Given the description of an element on the screen output the (x, y) to click on. 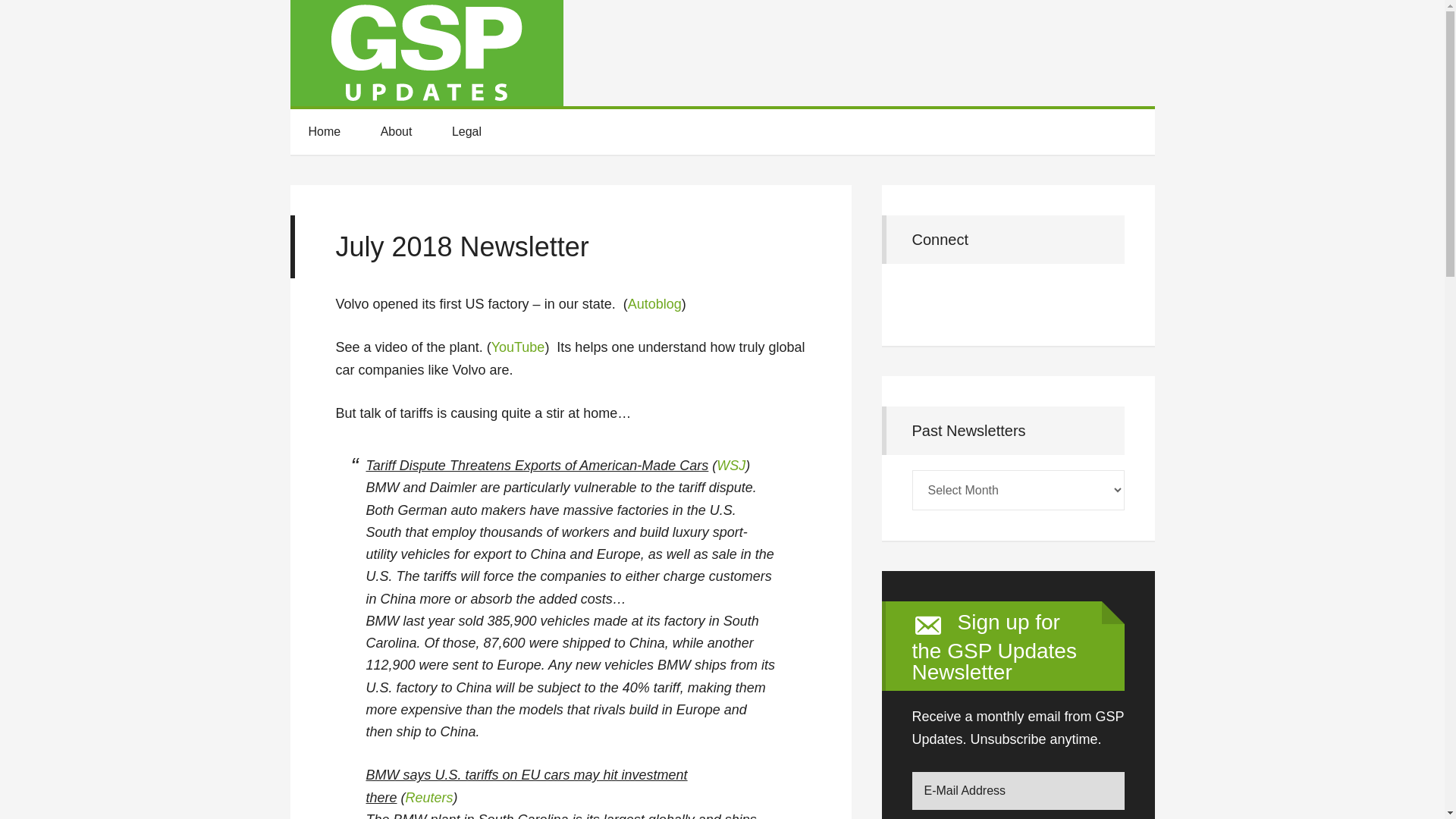
Home (323, 131)
WSJ (730, 465)
About (396, 131)
GSP UPDATES (425, 53)
Legal (466, 131)
YouTube (518, 346)
Autoblog (654, 304)
Reuters (429, 797)
